Given the description of an element on the screen output the (x, y) to click on. 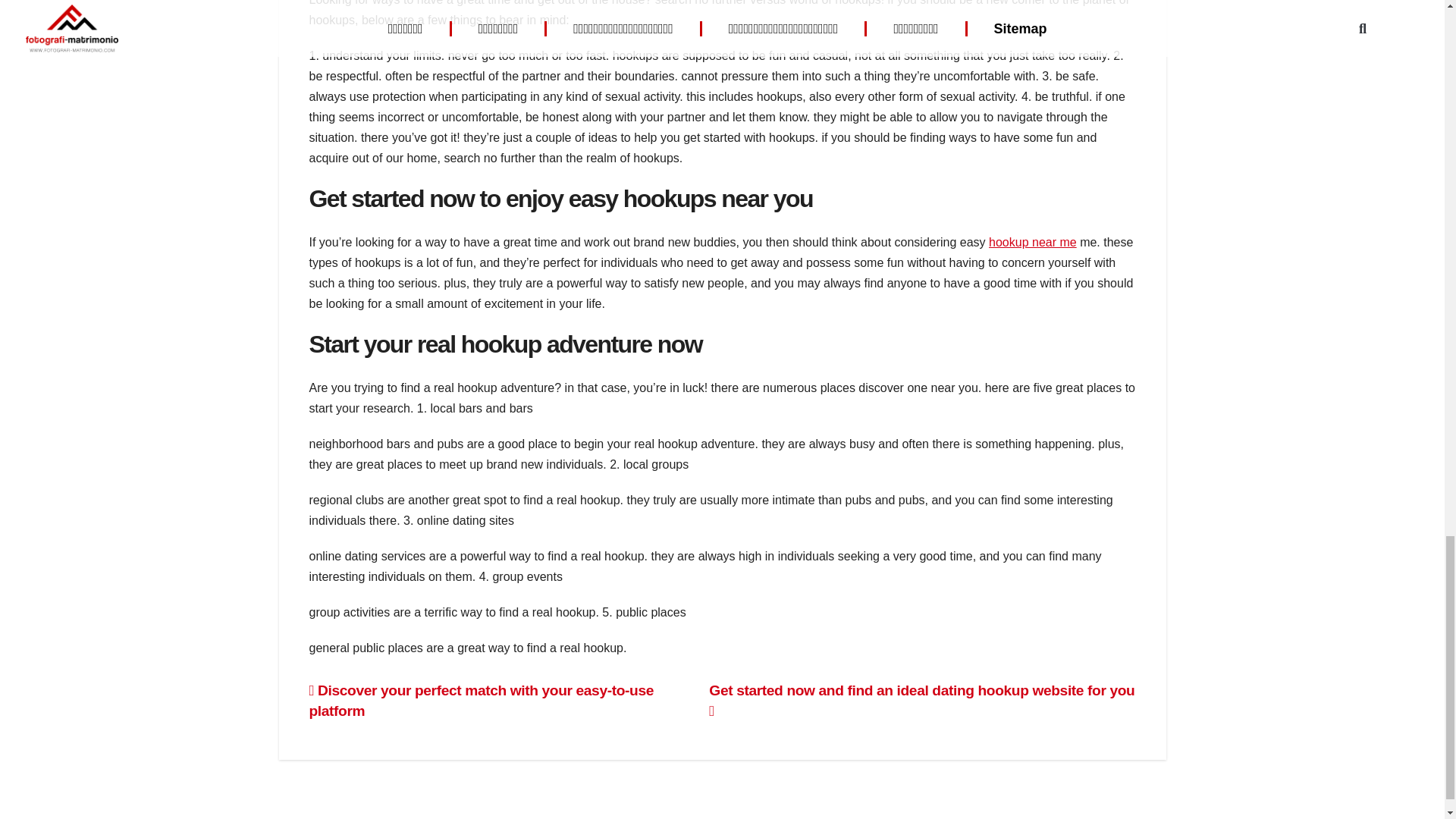
hookup near me (1032, 241)
Discover your perfect match with your easy-to-use platform (480, 700)
